Given the description of an element on the screen output the (x, y) to click on. 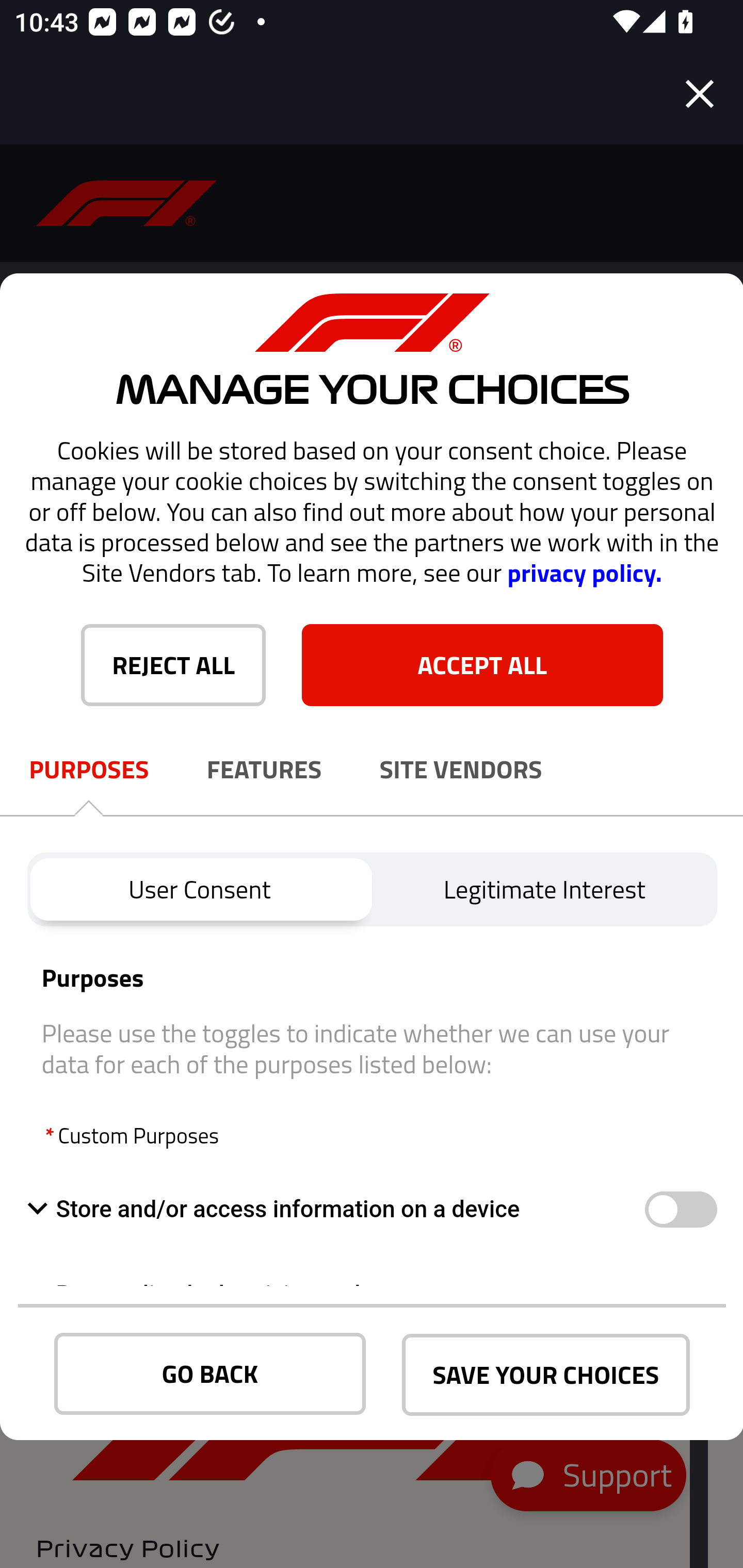
Close (699, 93)
privacy policy. (583, 572)
REJECT ALL (173, 664)
ACCEPT ALL (481, 664)
PURPOSES (89, 769)
FEATURES (264, 769)
SITE VENDORS (461, 769)
User Consent (199, 889)
Legitimate Interest (545, 889)
Store and/or access information on a device (335, 1209)
Store and/or access information on a device (680, 1210)
GO BACK (210, 1373)
SAVE YOUR CHOICES (546, 1374)
